Given the description of an element on the screen output the (x, y) to click on. 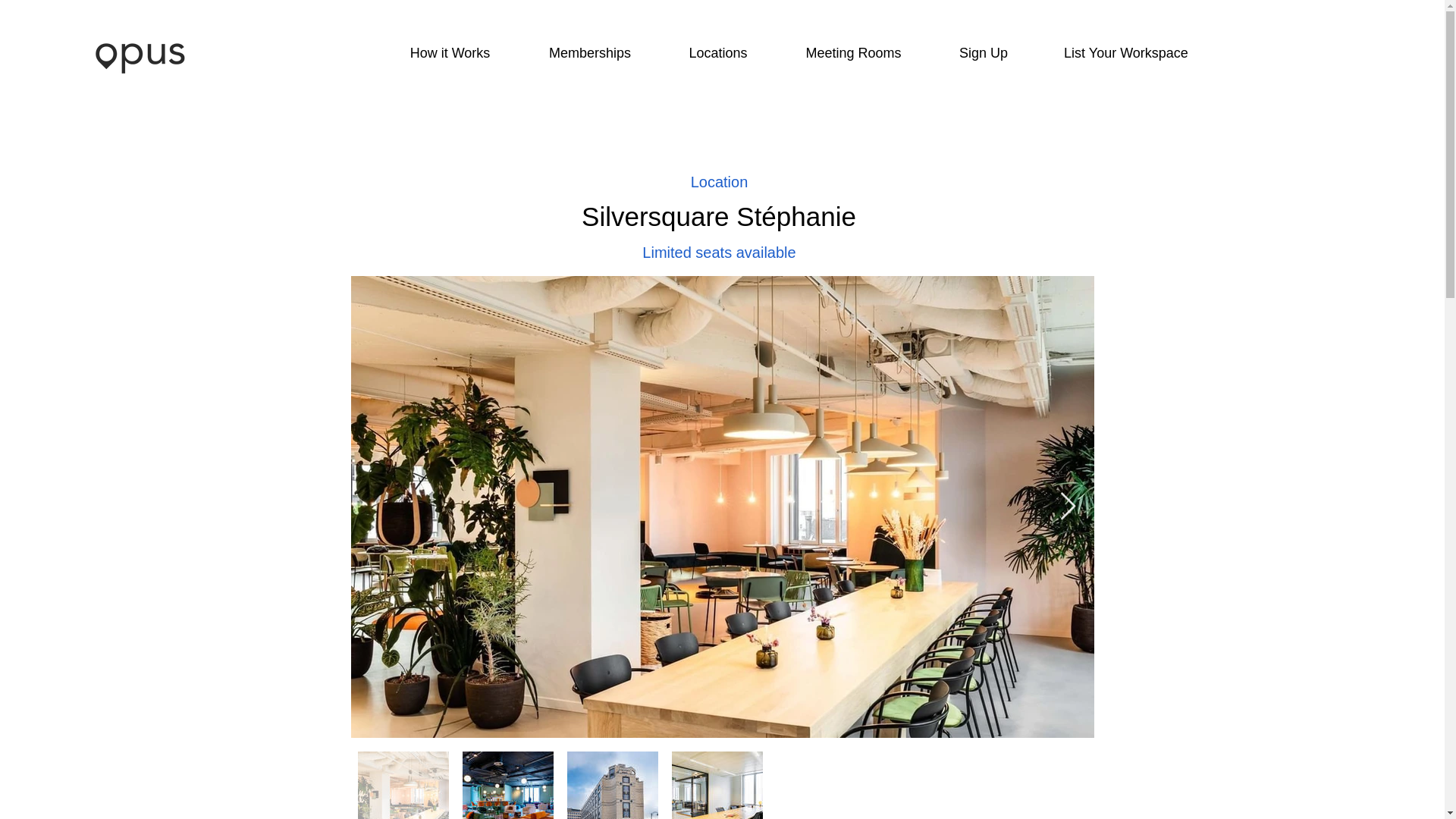
How it Works (449, 53)
Conversion Popup (722, 15)
Locations (717, 53)
Meeting Rooms (853, 53)
Sign Up (983, 53)
List Your Workspace (1125, 53)
Memberships (590, 53)
